Given the description of an element on the screen output the (x, y) to click on. 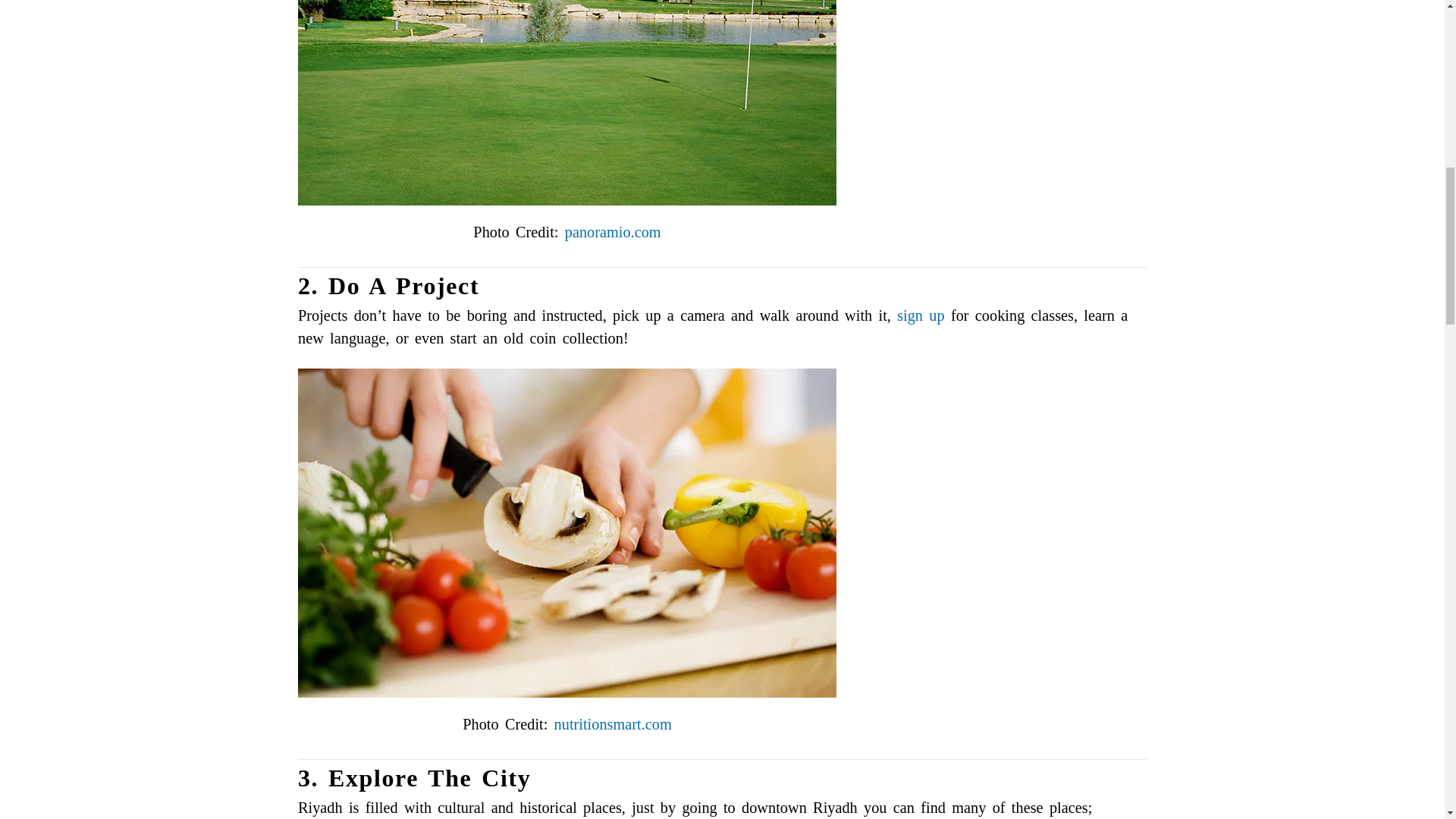
5 Things To Do In Riyadh During Summer 1 (566, 102)
nutritionsmart.com (612, 723)
panoramio.com (612, 231)
sign up (919, 315)
